Given the description of an element on the screen output the (x, y) to click on. 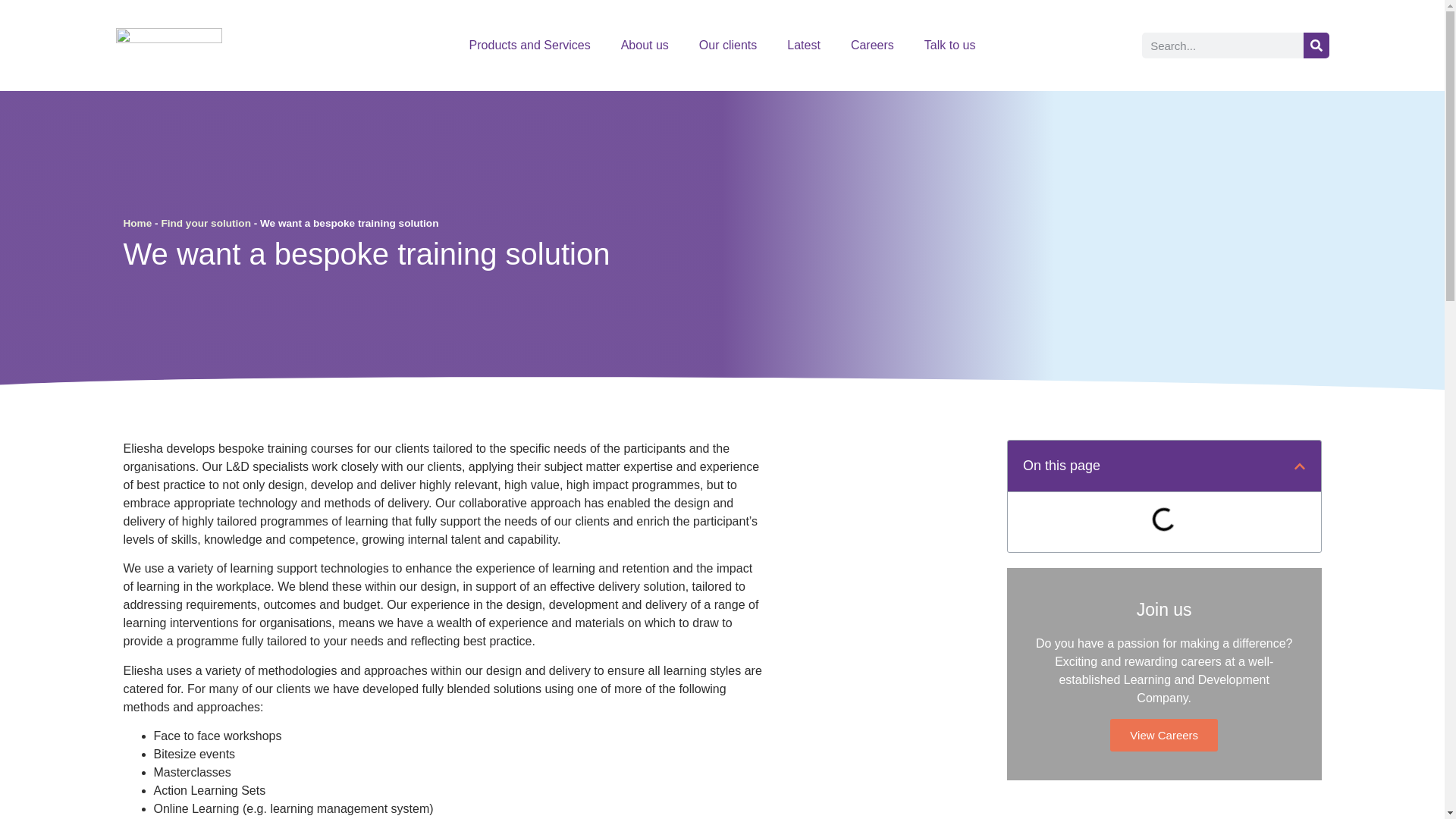
Products and Services (529, 45)
Talk to us (949, 45)
Home (136, 223)
View Careers (1163, 735)
Our clients (727, 45)
Find your solution (205, 223)
